Given the description of an element on the screen output the (x, y) to click on. 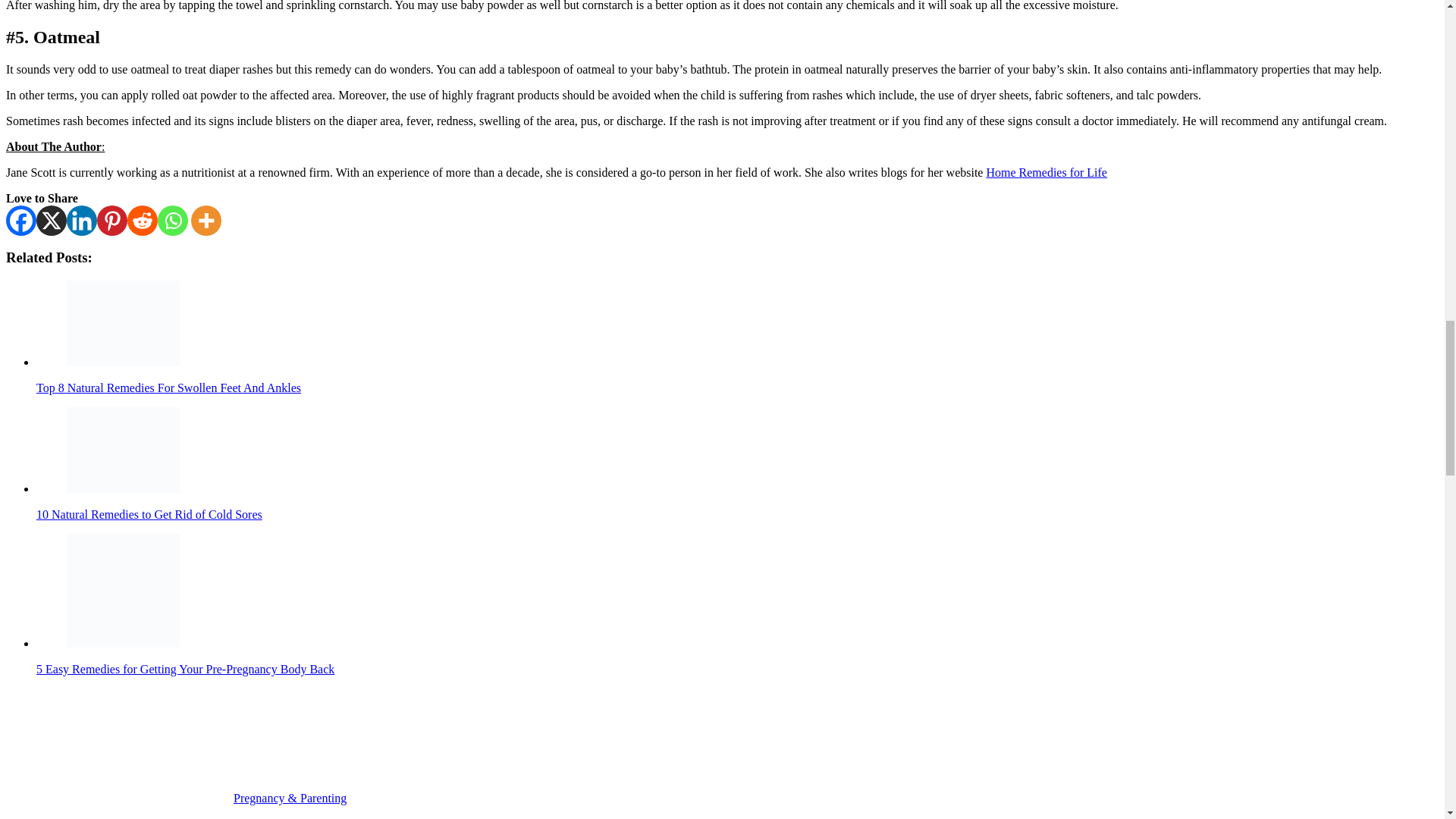
More (205, 220)
5 Easy Remedies for Getting Your Pre-Pregnancy Body Back (123, 590)
Top 8 Natural Remedies For Swollen Feet And Ankles (123, 323)
Pinterest (112, 220)
Home Remedies for Life (1045, 172)
Linkedin (81, 220)
X (51, 220)
Facebook (20, 220)
Reddit (142, 220)
Whatsapp (172, 220)
